Given the description of an element on the screen output the (x, y) to click on. 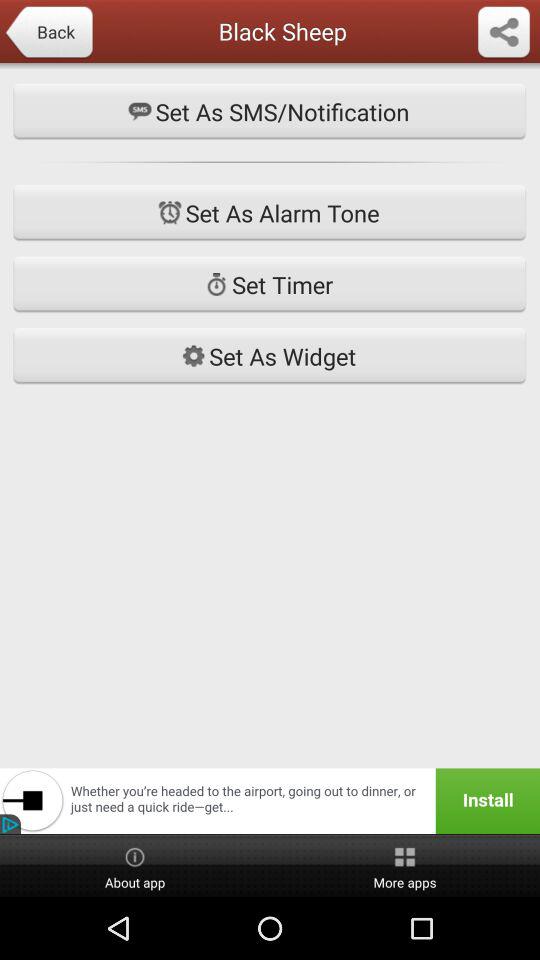
forward button (503, 33)
